Given the description of an element on the screen output the (x, y) to click on. 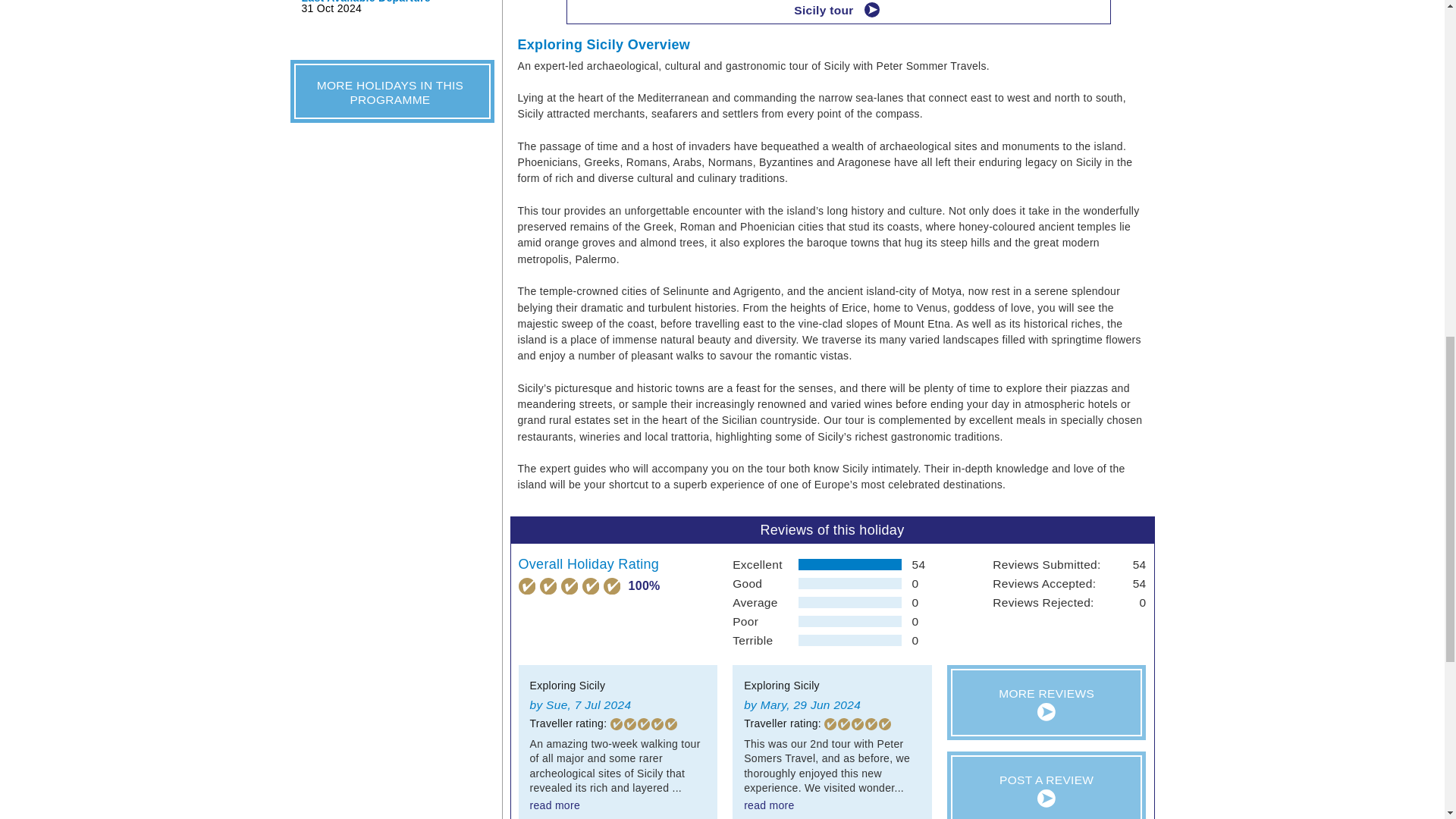
Sicily tour (838, 12)
MORE HOLIDAYS IN THIS PROGRAMME (391, 90)
